Given the description of an element on the screen output the (x, y) to click on. 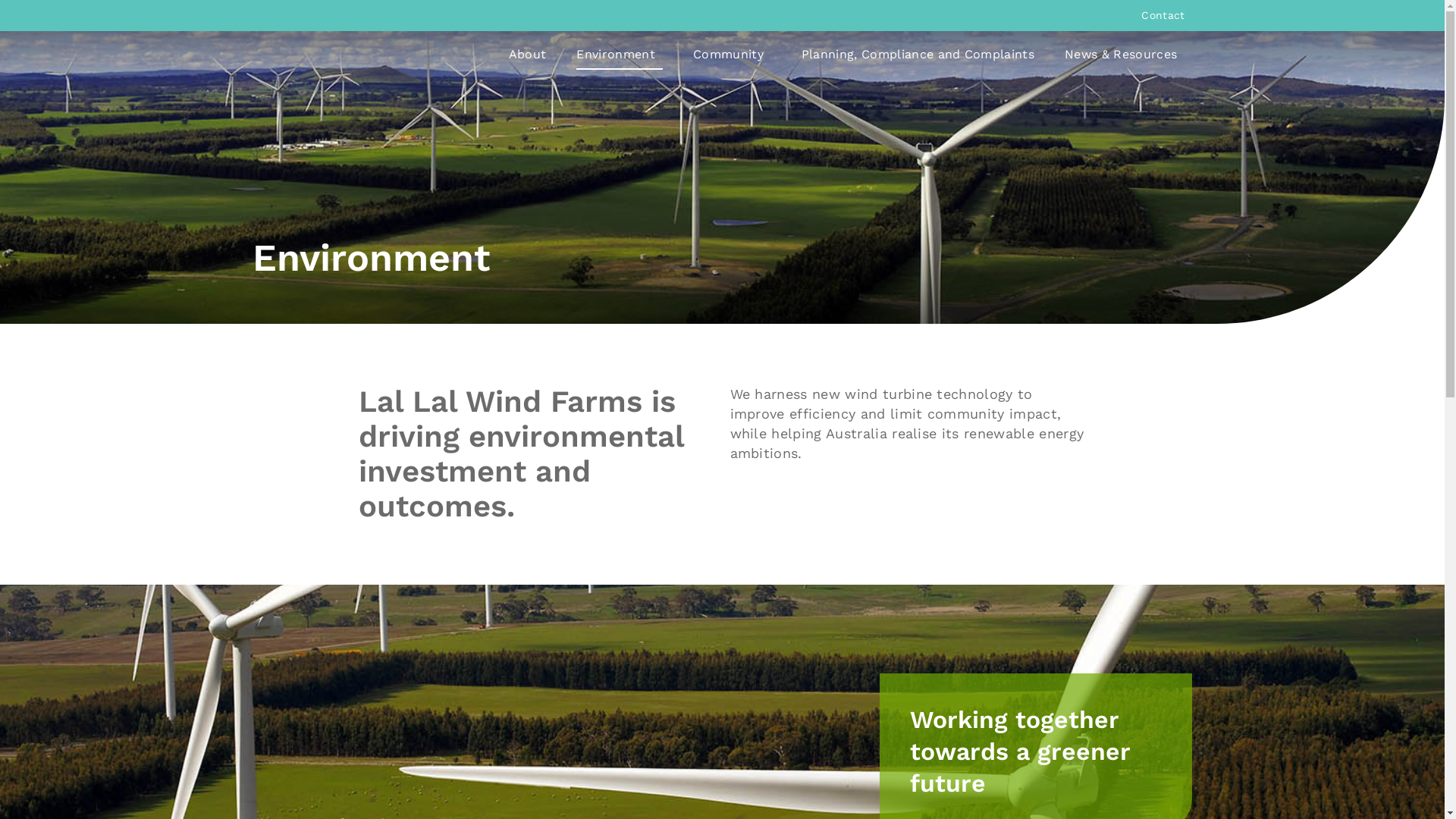
About Element type: text (527, 53)
Community Element type: text (732, 53)
Planning, Compliance and Complaints Element type: text (917, 53)
Environment Element type: text (619, 53)
Contact Element type: text (1162, 15)
News & Resources Element type: text (1124, 53)
